Given the description of an element on the screen output the (x, y) to click on. 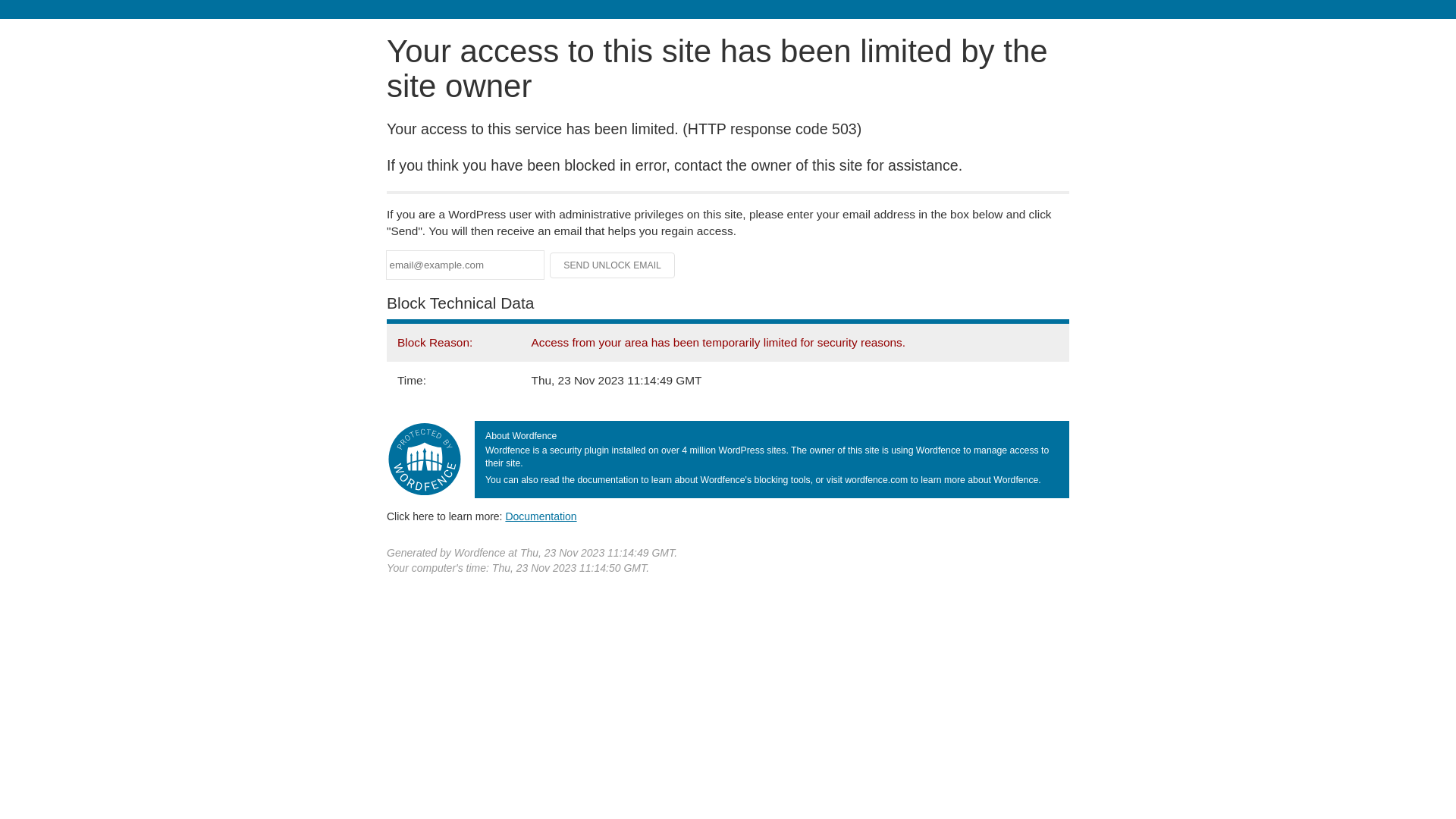
Documentation Element type: text (540, 516)
Send Unlock Email Element type: text (612, 265)
